Given the description of an element on the screen output the (x, y) to click on. 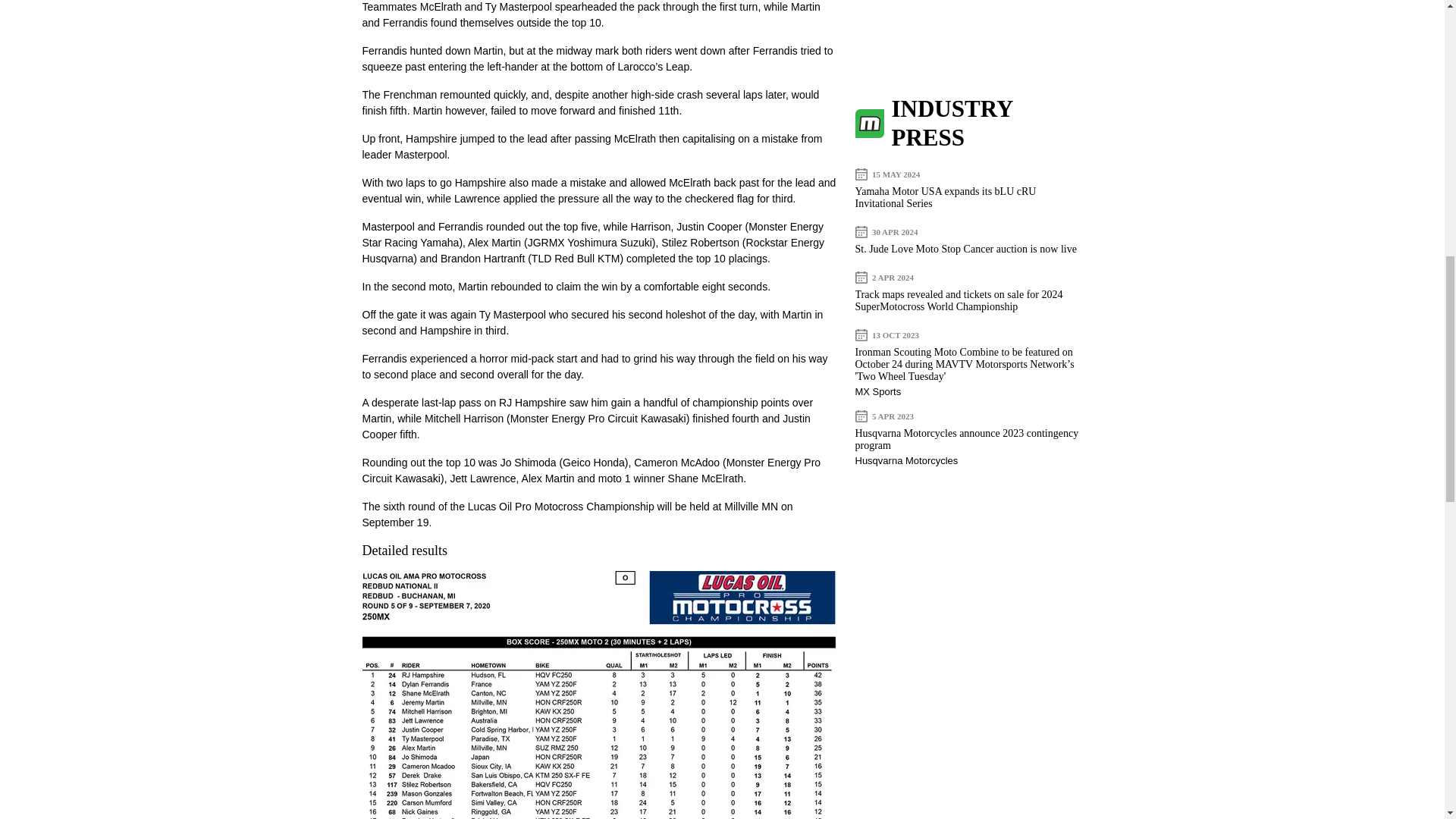
Detailed results (404, 549)
